Given the description of an element on the screen output the (x, y) to click on. 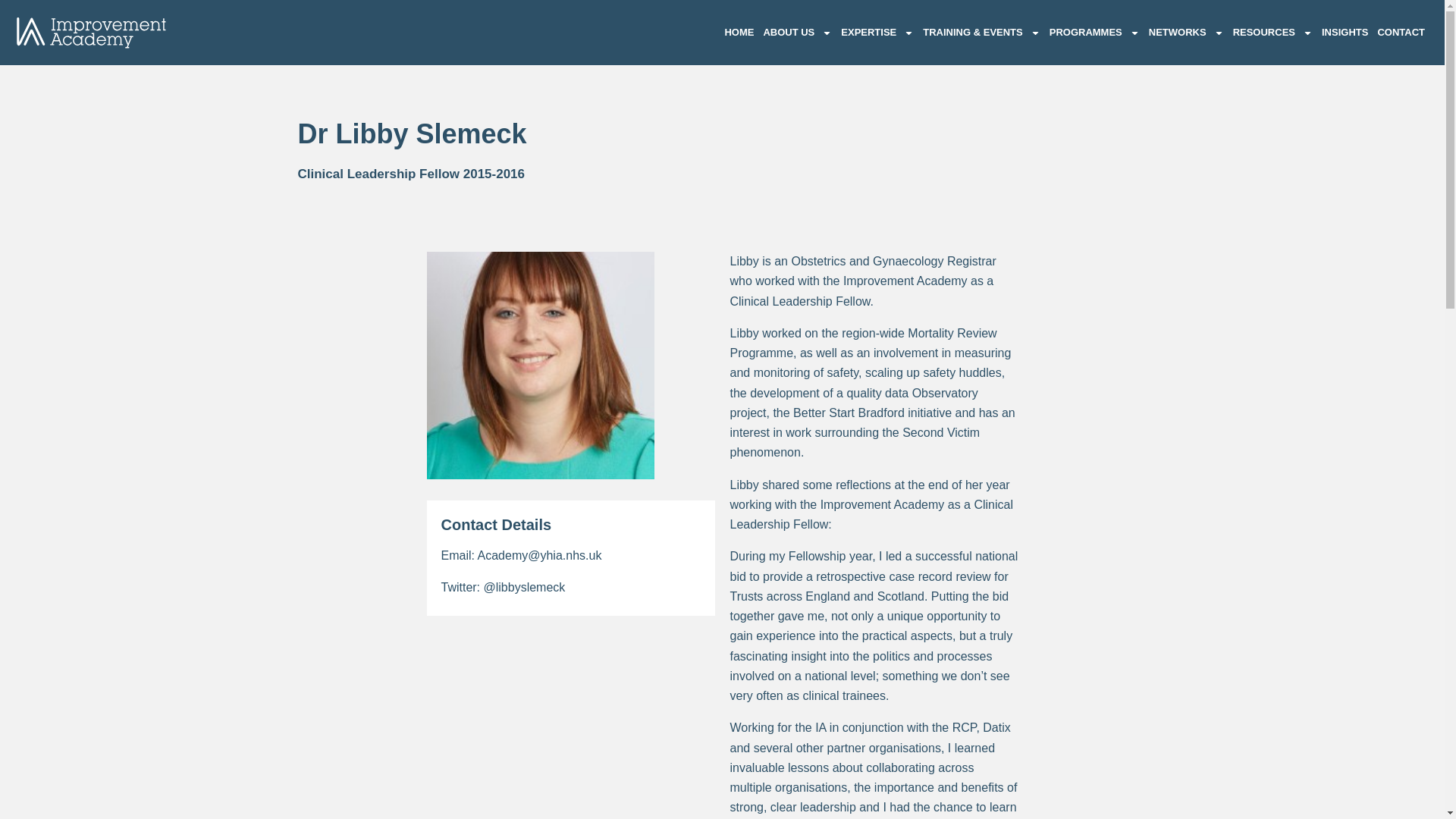
PROGRAMMES (1094, 32)
ABOUT US (796, 32)
EXPERTISE (876, 32)
HOME (738, 32)
